Given the description of an element on the screen output the (x, y) to click on. 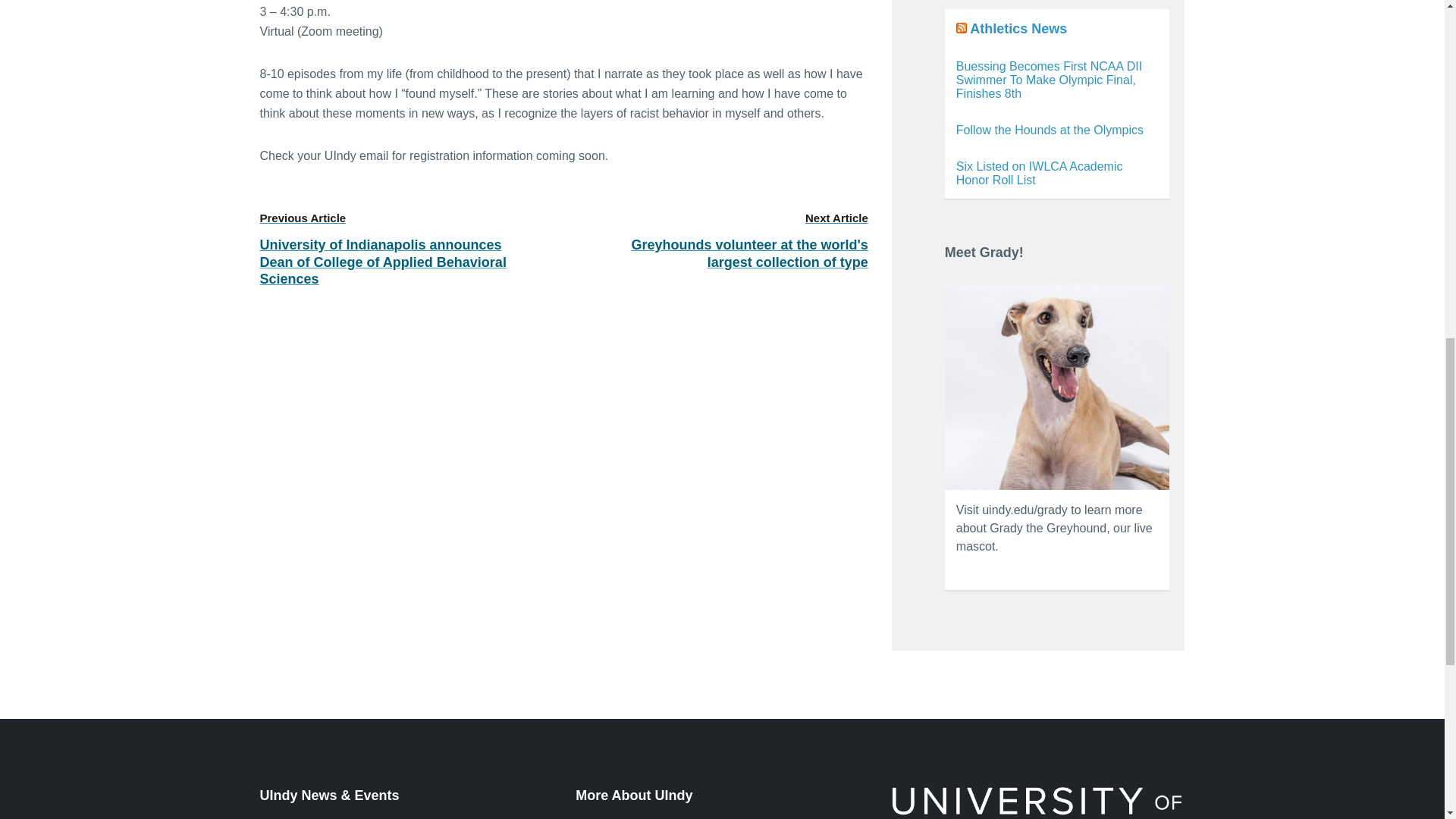
Meet Grady! (1057, 386)
